Given the description of an element on the screen output the (x, y) to click on. 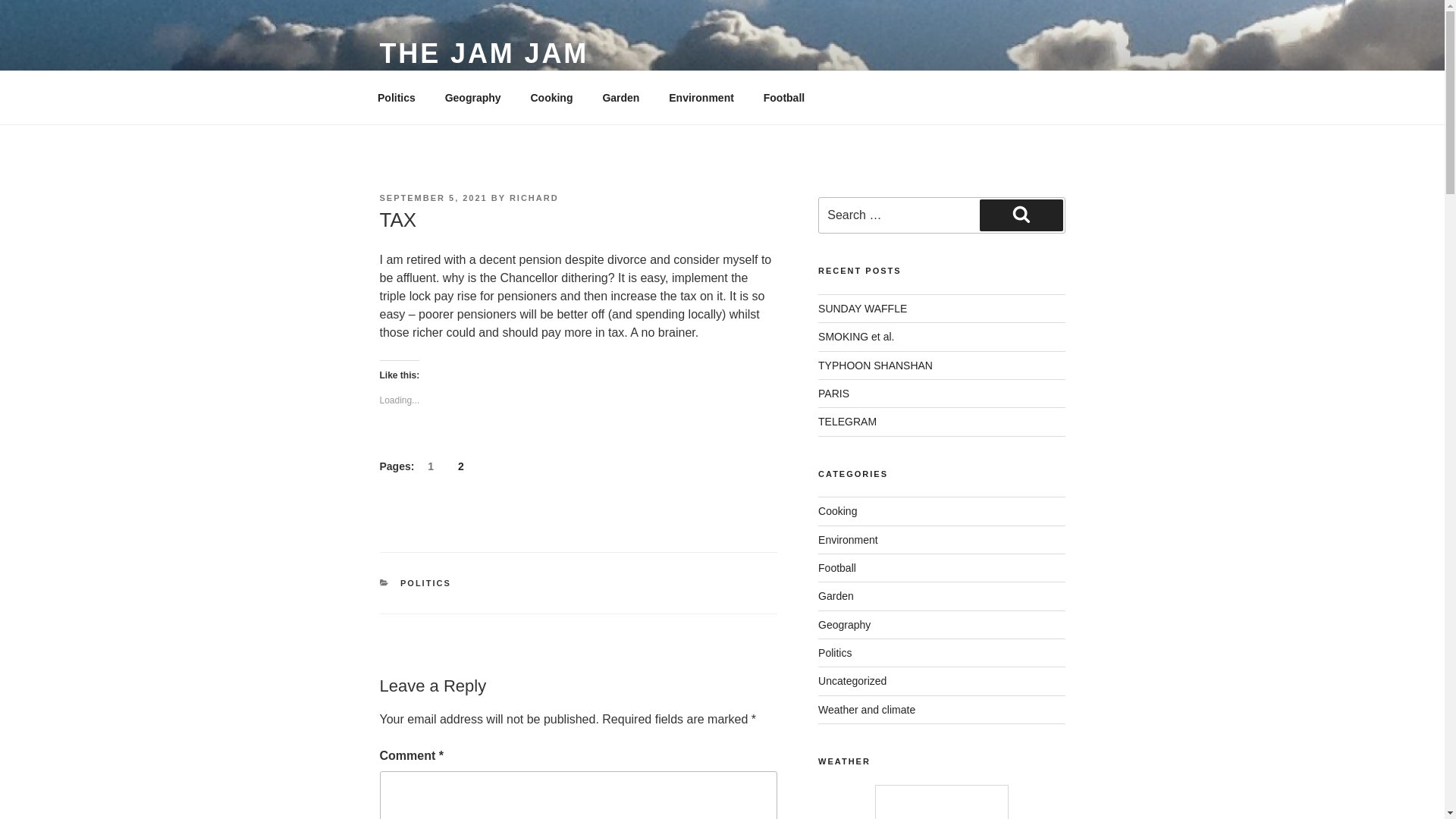
Garden (835, 595)
RICHARD (534, 197)
TYPHOON SHANSHAN (875, 365)
Politics (396, 97)
SMOKING et al. (855, 336)
Environment (702, 97)
Geography (844, 624)
Uncategorized (852, 680)
THE JAM JAM (483, 52)
Search (1020, 214)
